Given the description of an element on the screen output the (x, y) to click on. 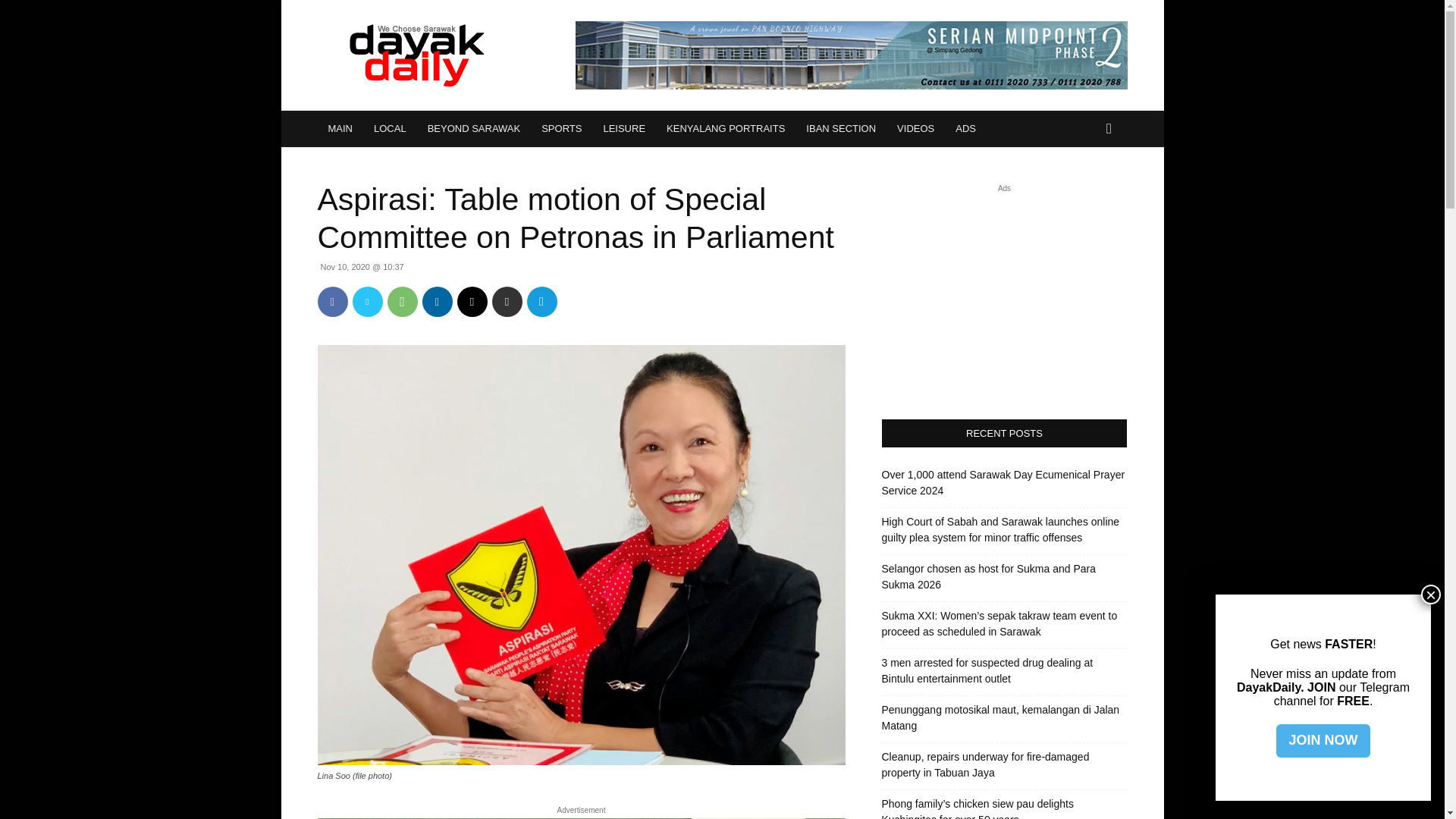
ADS (965, 128)
BEYOND SARAWAK (473, 128)
Linkedin (436, 301)
VIDEOS (915, 128)
Telegram (540, 301)
WhatsApp (401, 301)
KENYALANG PORTRAITS (725, 128)
MAIN (339, 128)
Email (471, 301)
SPORTS (561, 128)
IBAN SECTION (840, 128)
LOCAL (389, 128)
Facebook (332, 301)
LEISURE (624, 128)
